Given the description of an element on the screen output the (x, y) to click on. 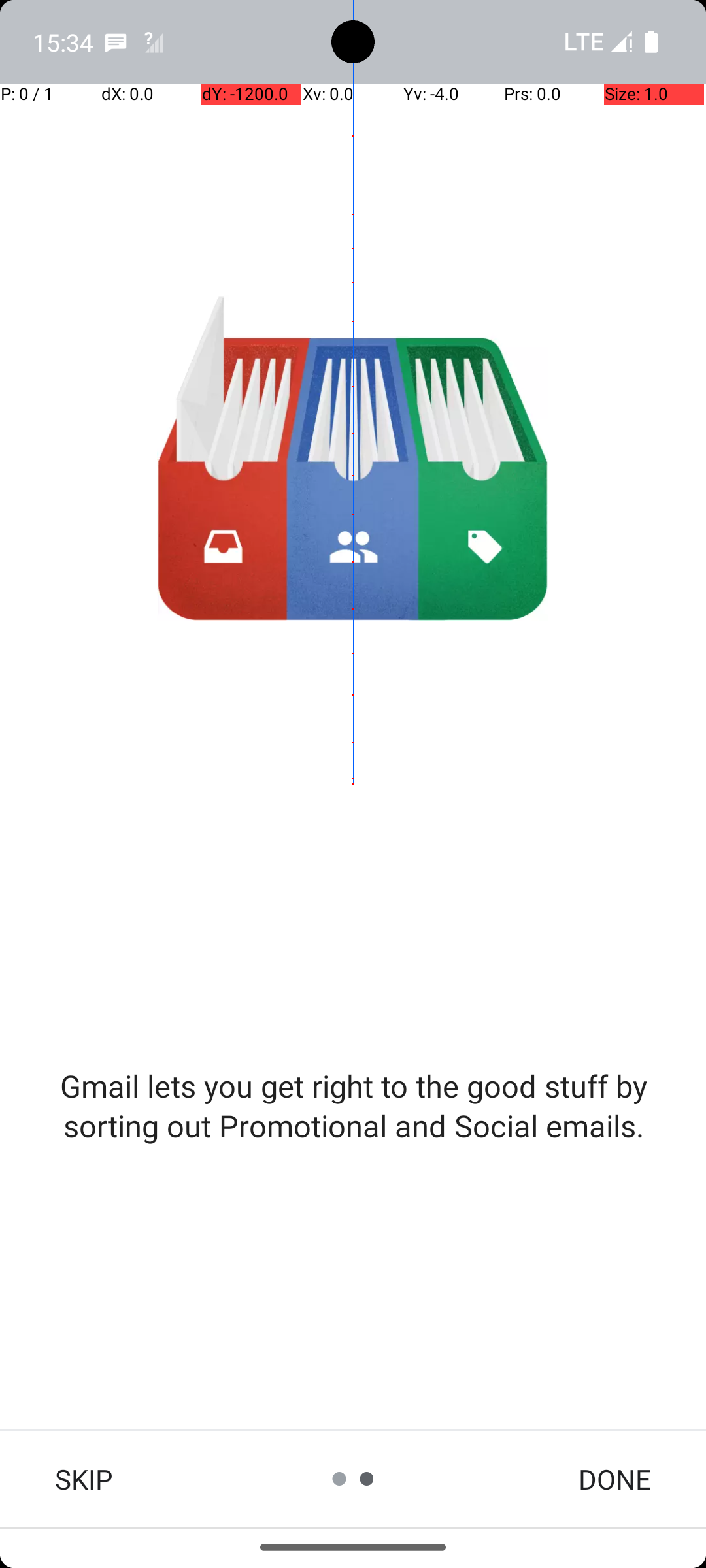
SKIP Element type: android.widget.TextView (83, 1478)
DONE Element type: android.widget.TextView (614, 1478)
Gmail lets you get right to the good stuff by sorting out Promotional and Social emails. Element type: android.widget.TextView (352, 1105)
Android System notification: Sign in to network Element type: android.widget.ImageView (153, 41)
